Given the description of an element on the screen output the (x, y) to click on. 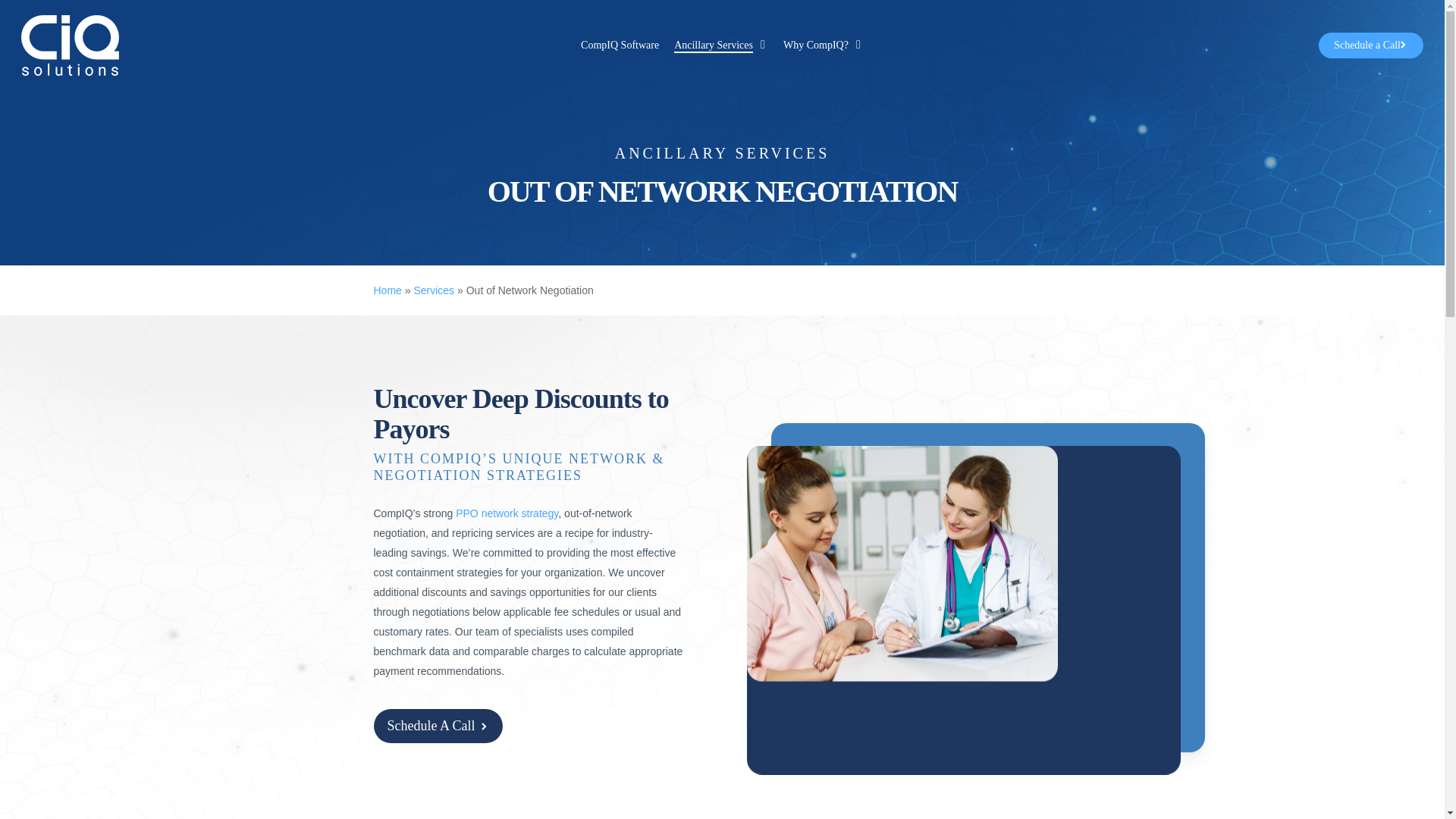
Home (386, 290)
Services (433, 290)
Schedule A Call (437, 725)
Schedule a Call (1371, 45)
Ancillary Services (721, 45)
Why CompIQ? (823, 45)
CompIQ Software (619, 45)
PPO network strategy (506, 512)
